Given the description of an element on the screen output the (x, y) to click on. 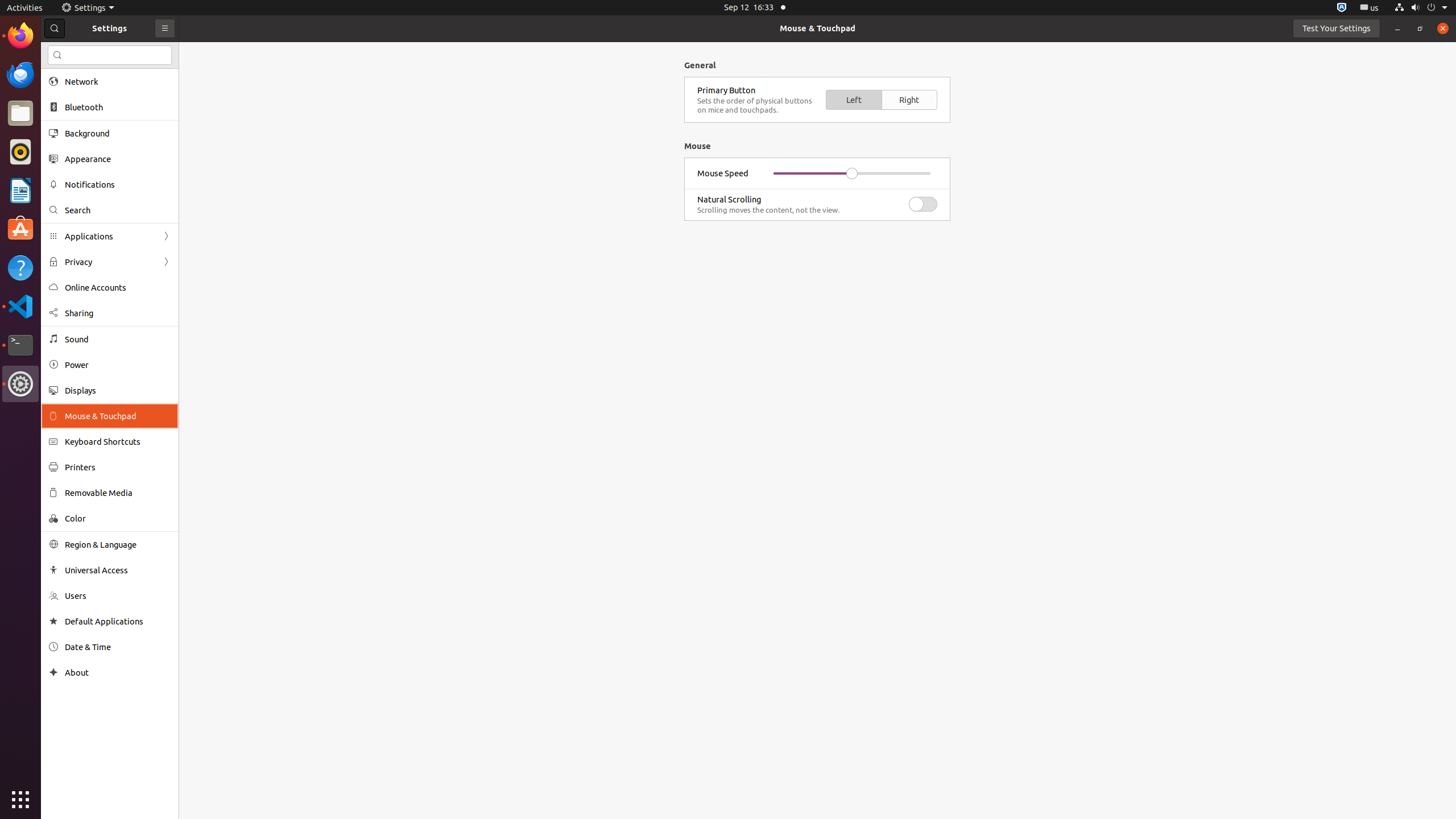
Privacy Element type: label (109, 261)
Keyboard Shortcuts Element type: label (117, 441)
Mouse & Touchpad Element type: label (817, 27)
Notifications Element type: label (117, 184)
Applications Element type: label (109, 236)
